Given the description of an element on the screen output the (x, y) to click on. 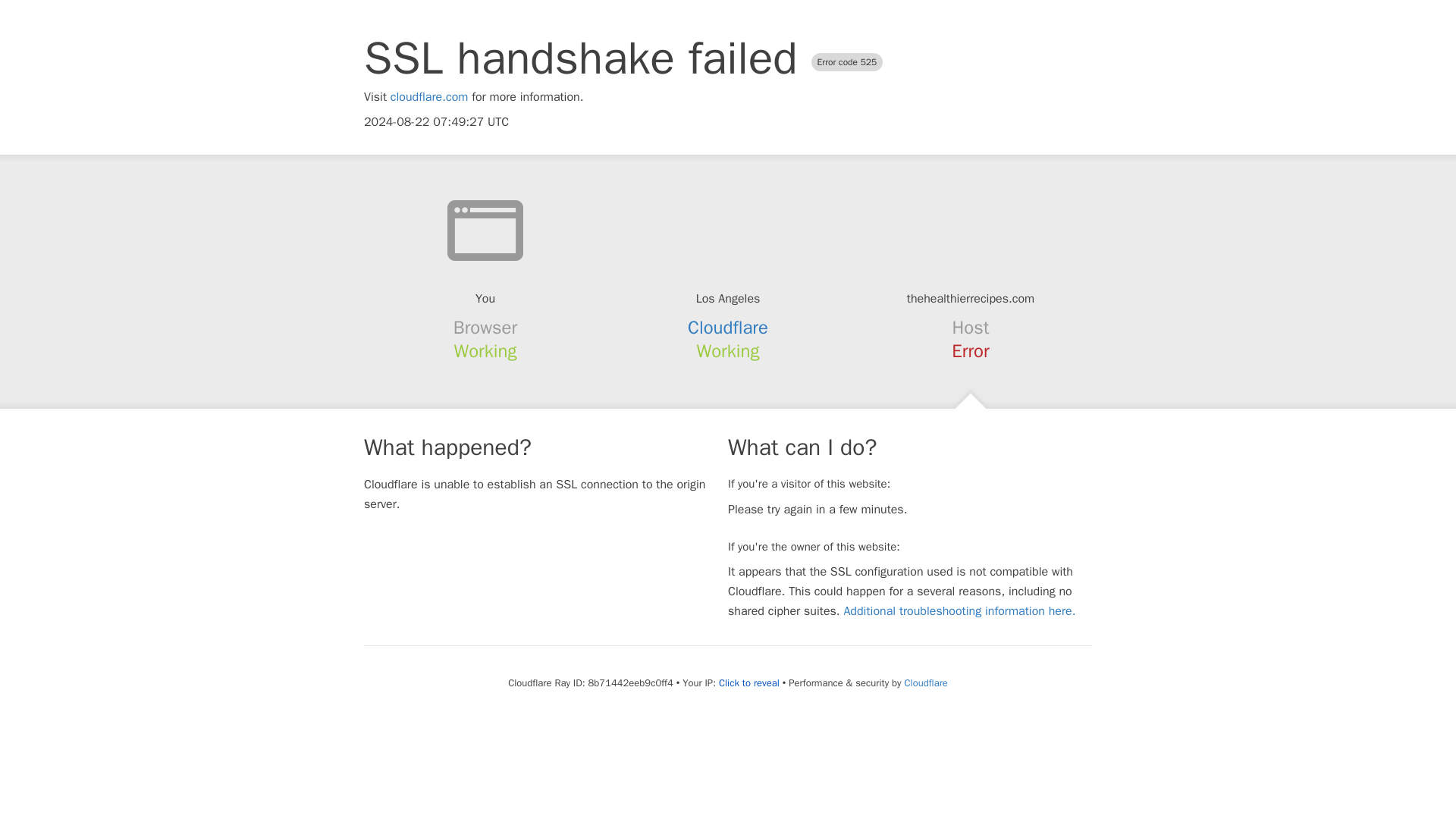
Additional troubleshooting information here. (959, 611)
Cloudflare (727, 327)
Cloudflare (925, 682)
cloudflare.com (429, 96)
Click to reveal (748, 683)
